Given the description of an element on the screen output the (x, y) to click on. 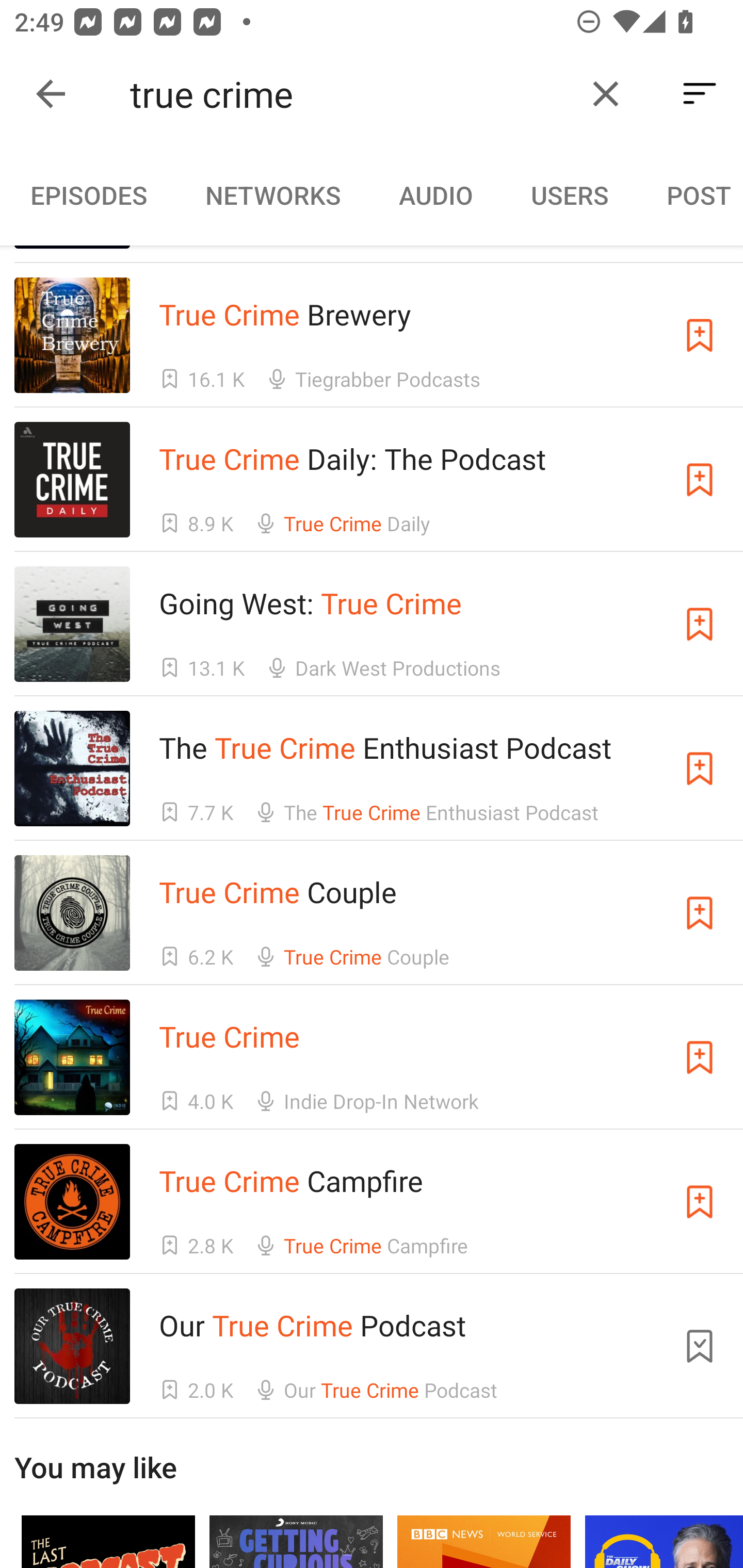
Collapse (50, 93)
Clear query (605, 93)
Sort By (699, 93)
true crime (349, 94)
AUDIOBOOKS (0, 195)
EPISODES (88, 195)
NETWORKS (272, 195)
AUDIO (435, 195)
USERS (569, 195)
POST (690, 195)
Subscribe (699, 335)
Subscribe (699, 479)
Subscribe (699, 624)
Subscribe (699, 768)
Subscribe (699, 912)
Subscribe (699, 1057)
Subscribe (699, 1201)
Unsubscribe (699, 1345)
You may like (371, 1493)
